Given the description of an element on the screen output the (x, y) to click on. 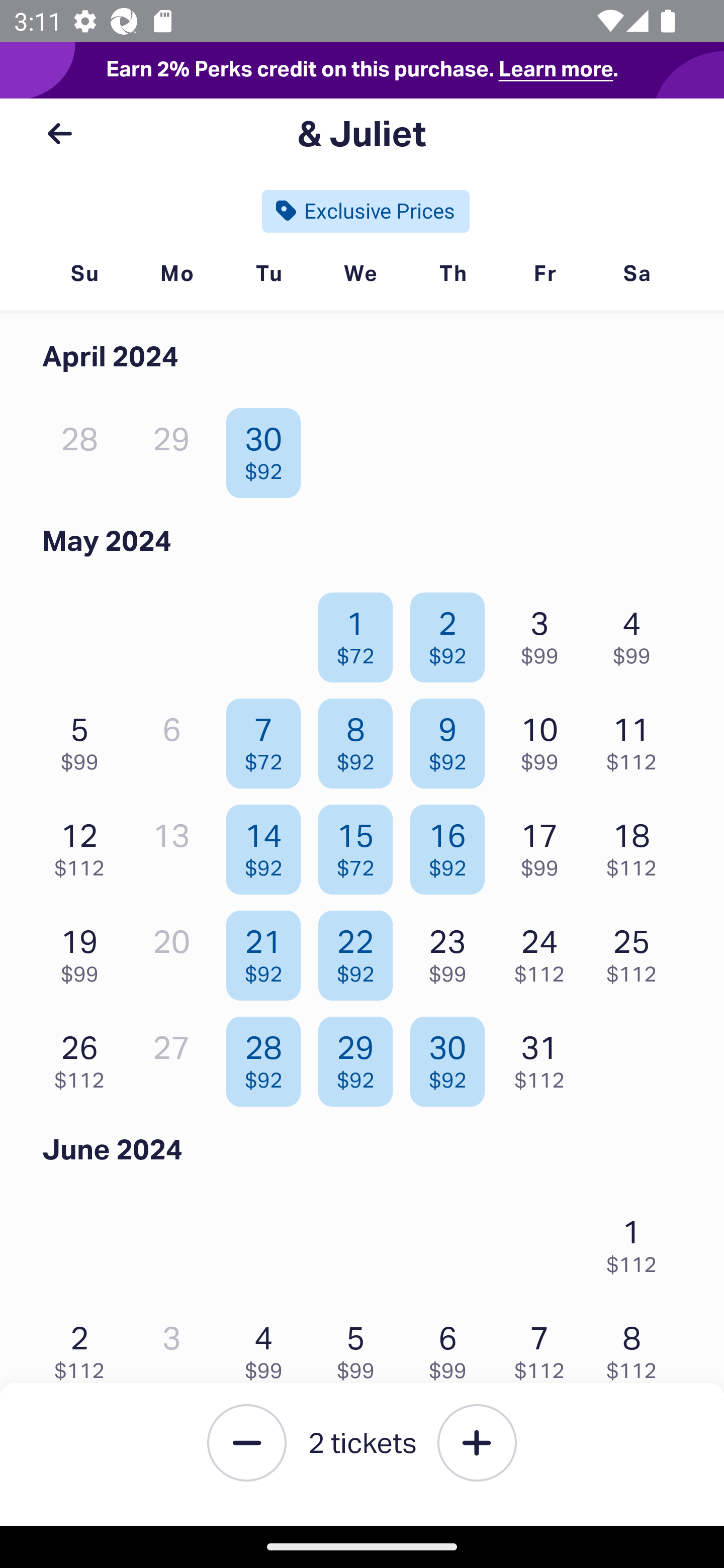
Earn 2% Perks credit on this purchase. Learn more. (362, 70)
back button (59, 133)
Exclusive Prices (365, 210)
30 $92 (268, 448)
1 $72 (360, 632)
2 $92 (452, 632)
3 $99 (544, 632)
4 $99 (636, 632)
5 $99 (84, 738)
7 $72 (268, 738)
8 $92 (360, 738)
9 $92 (452, 738)
10 $99 (544, 738)
11 $112 (636, 738)
12 $112 (84, 844)
14 $92 (268, 844)
15 $72 (360, 844)
16 $92 (452, 844)
17 $99 (544, 844)
18 $112 (636, 844)
19 $99 (84, 950)
21 $92 (268, 950)
22 $92 (360, 950)
23 $99 (452, 950)
24 $112 (544, 950)
25 $112 (636, 950)
26 $112 (84, 1057)
28 $92 (268, 1057)
29 $92 (360, 1057)
30 $92 (452, 1057)
31 $112 (544, 1057)
1 $112 (636, 1240)
2 $112 (84, 1347)
4 $99 (268, 1347)
5 $99 (360, 1347)
6 $99 (452, 1347)
7 $112 (544, 1347)
8 $112 (636, 1347)
